Given the description of an element on the screen output the (x, y) to click on. 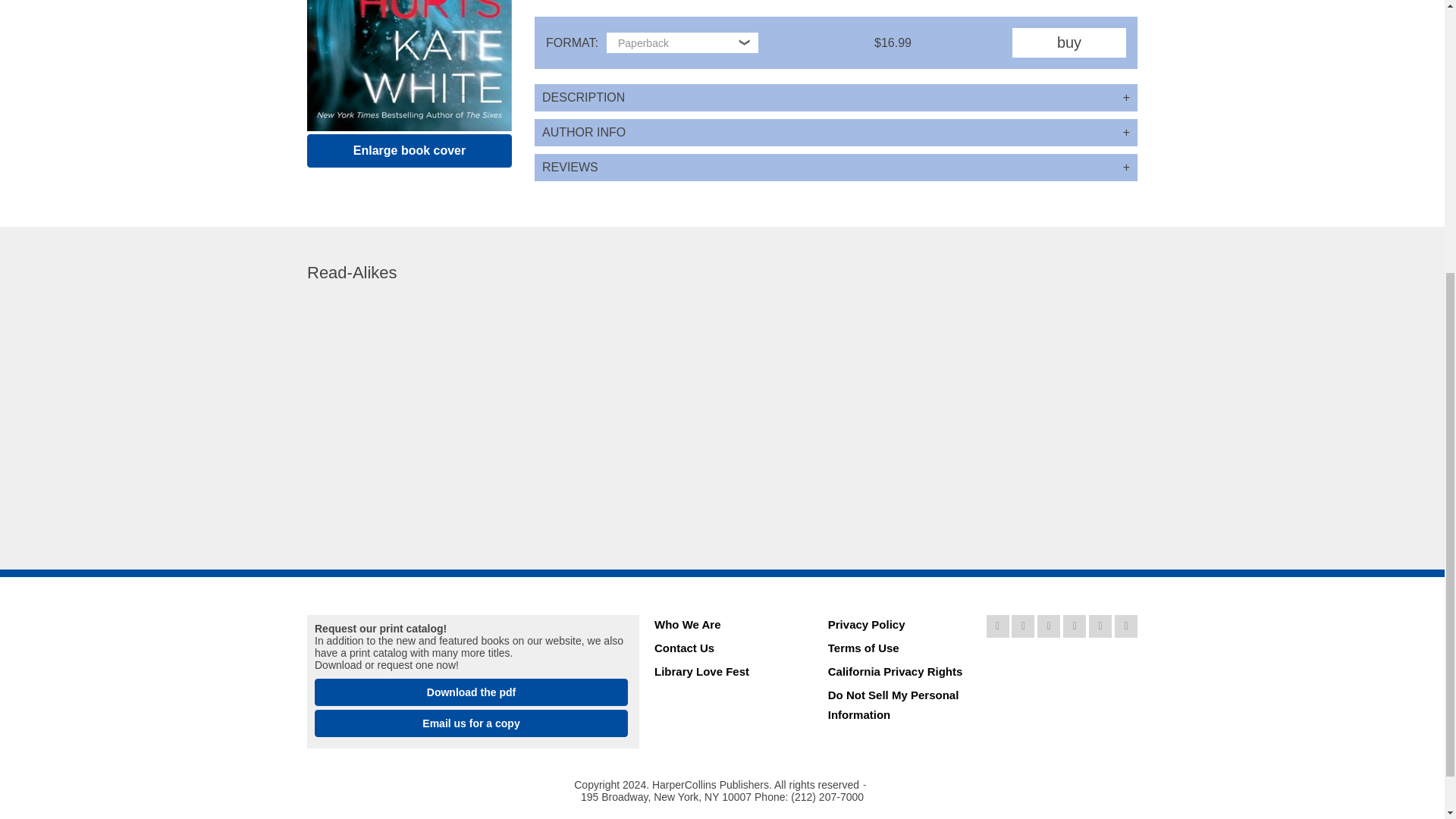
Enlarge book cover (409, 150)
Privacy Policy (899, 626)
Do Not Sell My Personal Information (899, 706)
Enlarge book cover (409, 150)
California Privacy Rights (899, 673)
Terms of Use (899, 649)
Download the pdf (470, 691)
buy (1068, 42)
HarperLibraryBookClubCatalog (470, 691)
Contact Us (725, 649)
Buy the book on hc.com (1068, 42)
Library Love Fest (725, 673)
Who We Are (725, 626)
Email us for a copy (470, 723)
